Given the description of an element on the screen output the (x, y) to click on. 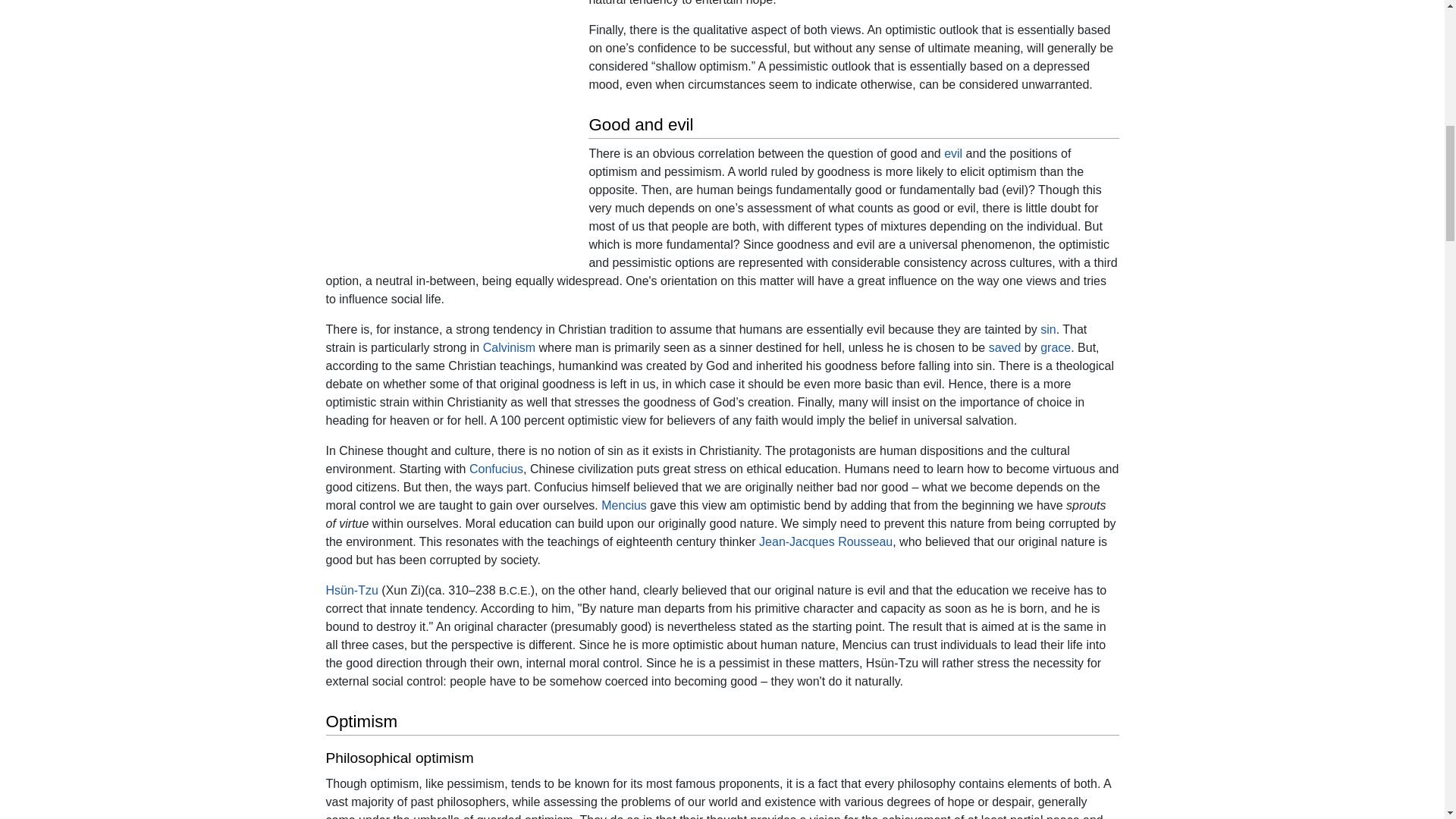
Calvinism (509, 347)
Salvation (1005, 347)
evil (952, 153)
sin (1048, 328)
Evil (952, 153)
Sin (1048, 328)
Grace (1055, 347)
